Given the description of an element on the screen output the (x, y) to click on. 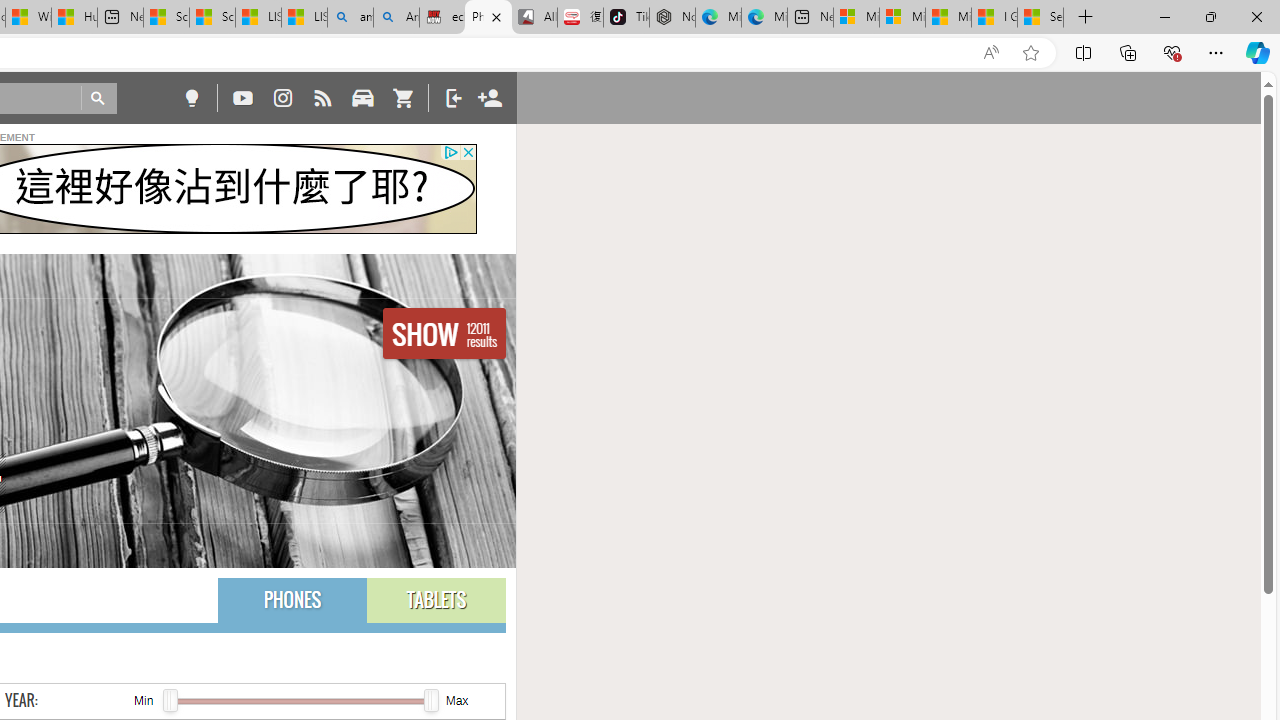
Go (98, 97)
Show (443, 333)
Amazon Echo Dot PNG - Search Images (395, 17)
